Given the description of an element on the screen output the (x, y) to click on. 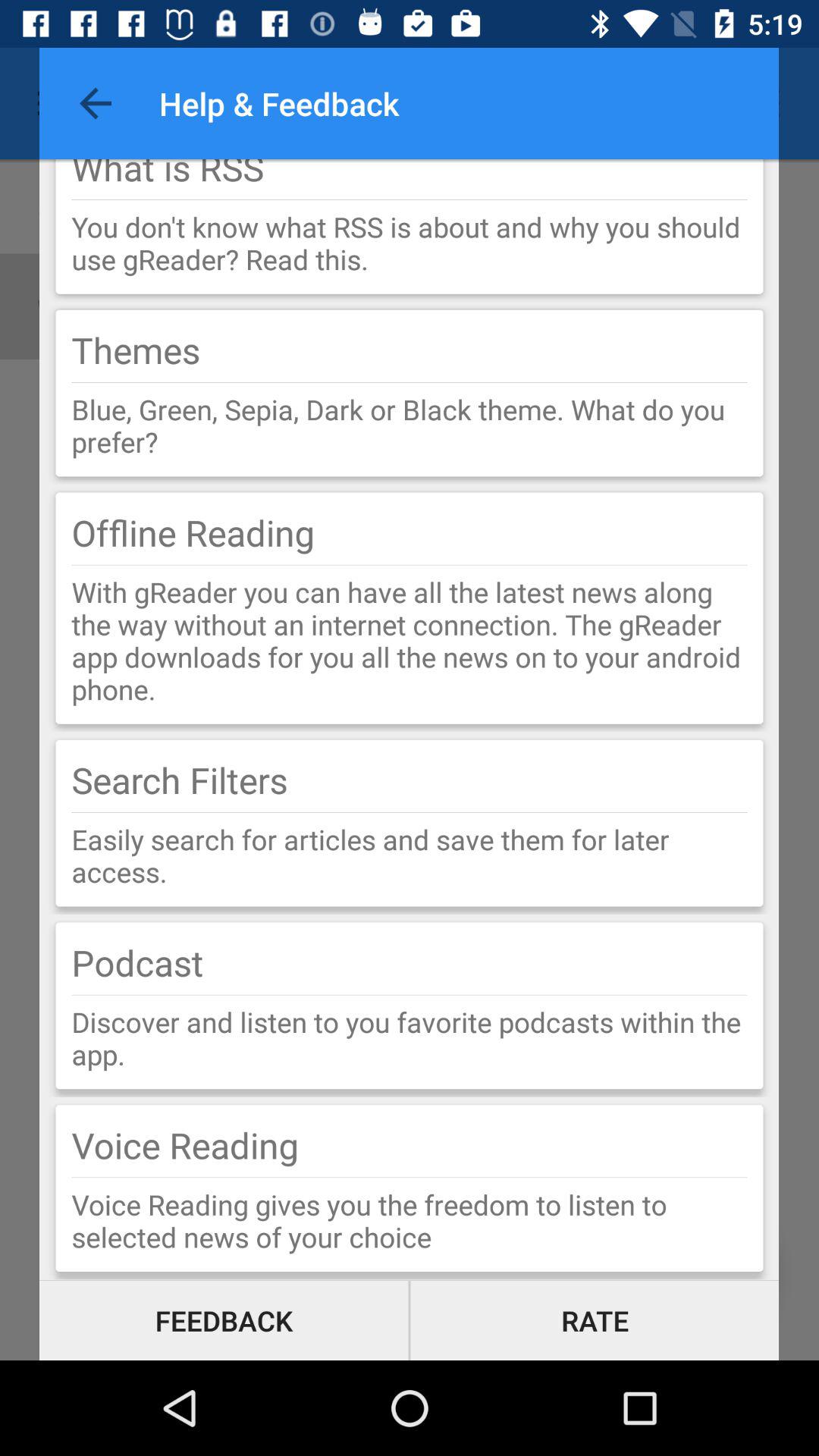
launch easily search for item (409, 855)
